Given the description of an element on the screen output the (x, y) to click on. 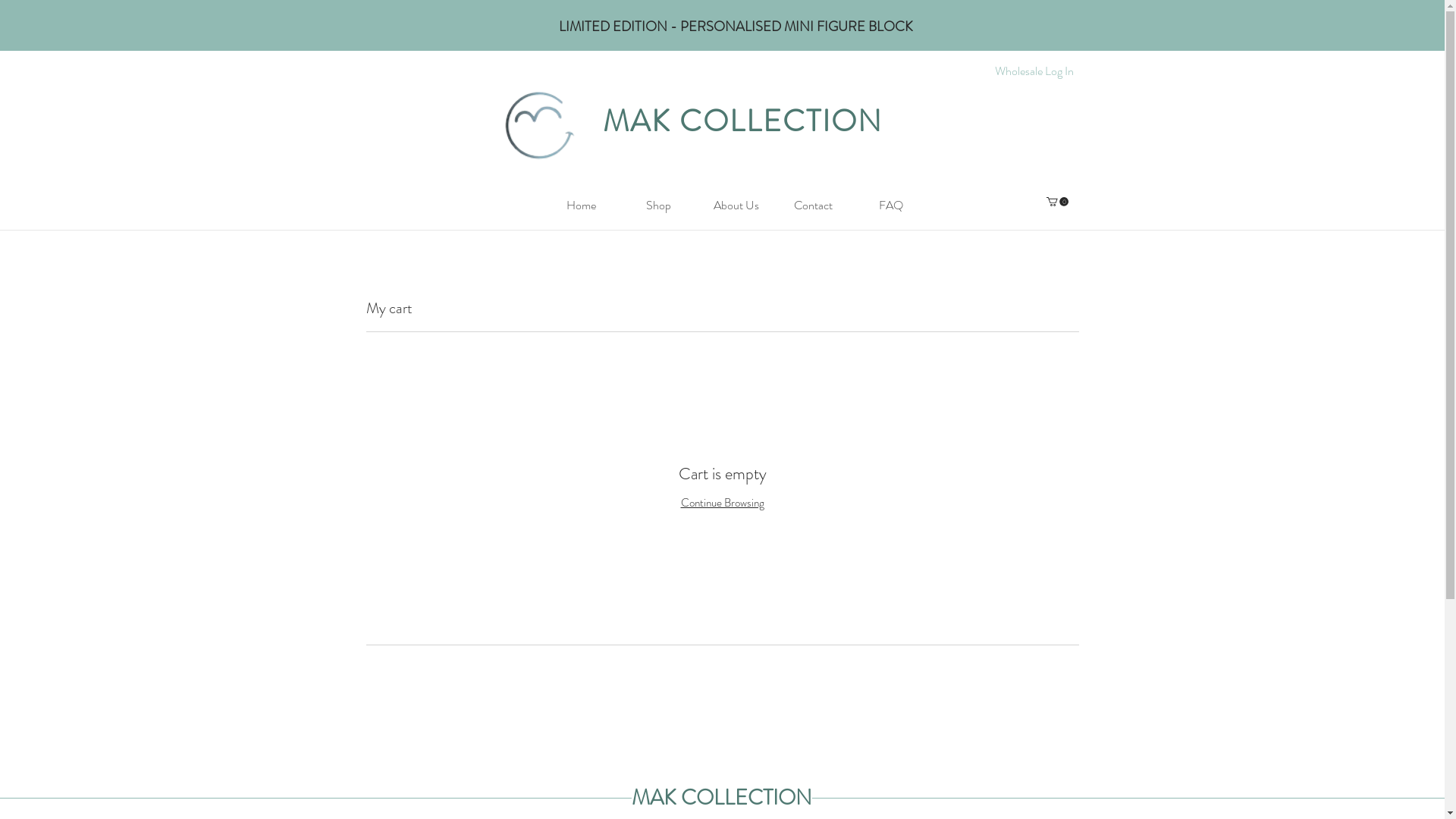
Contact Element type: text (813, 204)
Wholesale Log In Element type: text (1034, 71)
Shop Element type: text (658, 204)
Continue Browsing Element type: text (722, 502)
FAQ Element type: text (890, 204)
MAK COLLECTION Element type: text (742, 120)
0 Element type: text (1057, 201)
About Us Element type: text (736, 204)
Home Element type: text (581, 204)
